Given the description of an element on the screen output the (x, y) to click on. 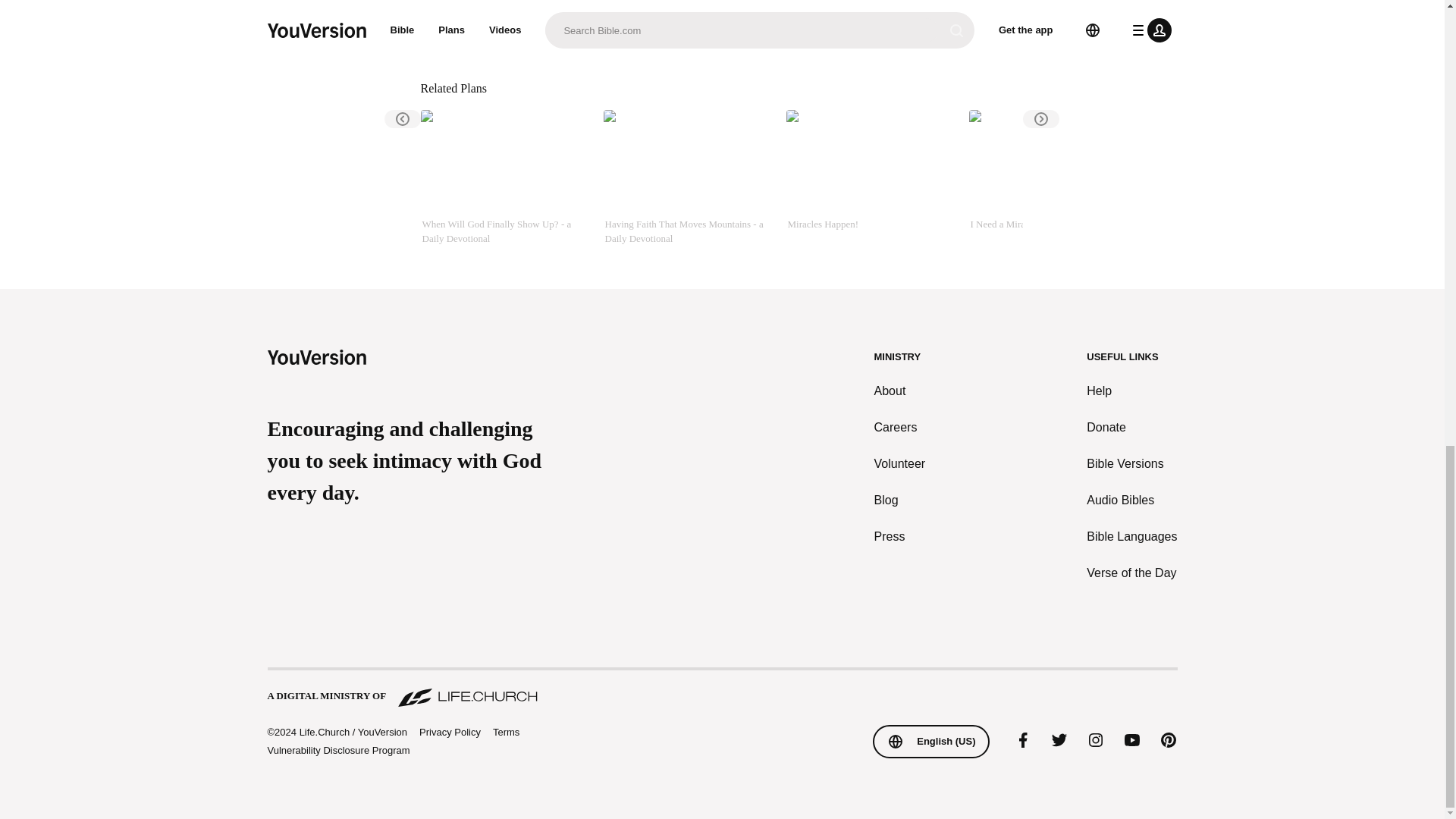
When Will God Finally Show Up? - a Daily Devotional (505, 177)
Careers (900, 427)
Volunteer (900, 464)
Bible Versions (1131, 464)
Vulnerability Disclosure Program (337, 749)
About The Publisher (514, 31)
A DIGITAL MINISTRY OF (721, 688)
Press (900, 536)
Donate (1131, 427)
Verse of the Day (1131, 573)
Privacy Policy (449, 732)
Blog (900, 500)
About (900, 391)
Bible Languages (1131, 536)
Miracles Happen! (871, 177)
